Given the description of an element on the screen output the (x, y) to click on. 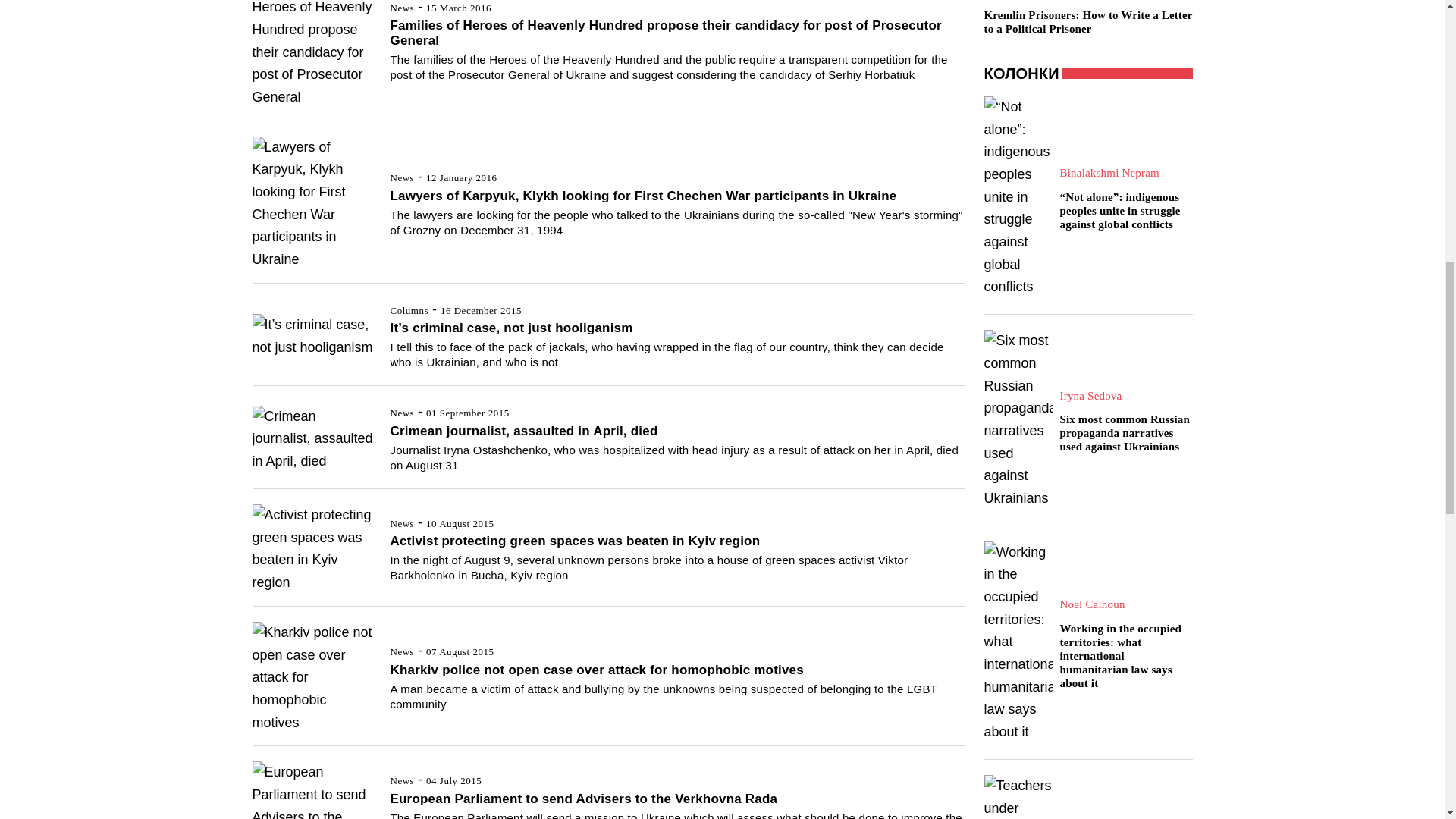
Activist protecting green spaces was beaten in Kyiv region (311, 549)
European Parliament to send Advisers to the Verkhovna Rada (311, 790)
Crimean journalist, assaulted in April, died (311, 439)
